Given the description of an element on the screen output the (x, y) to click on. 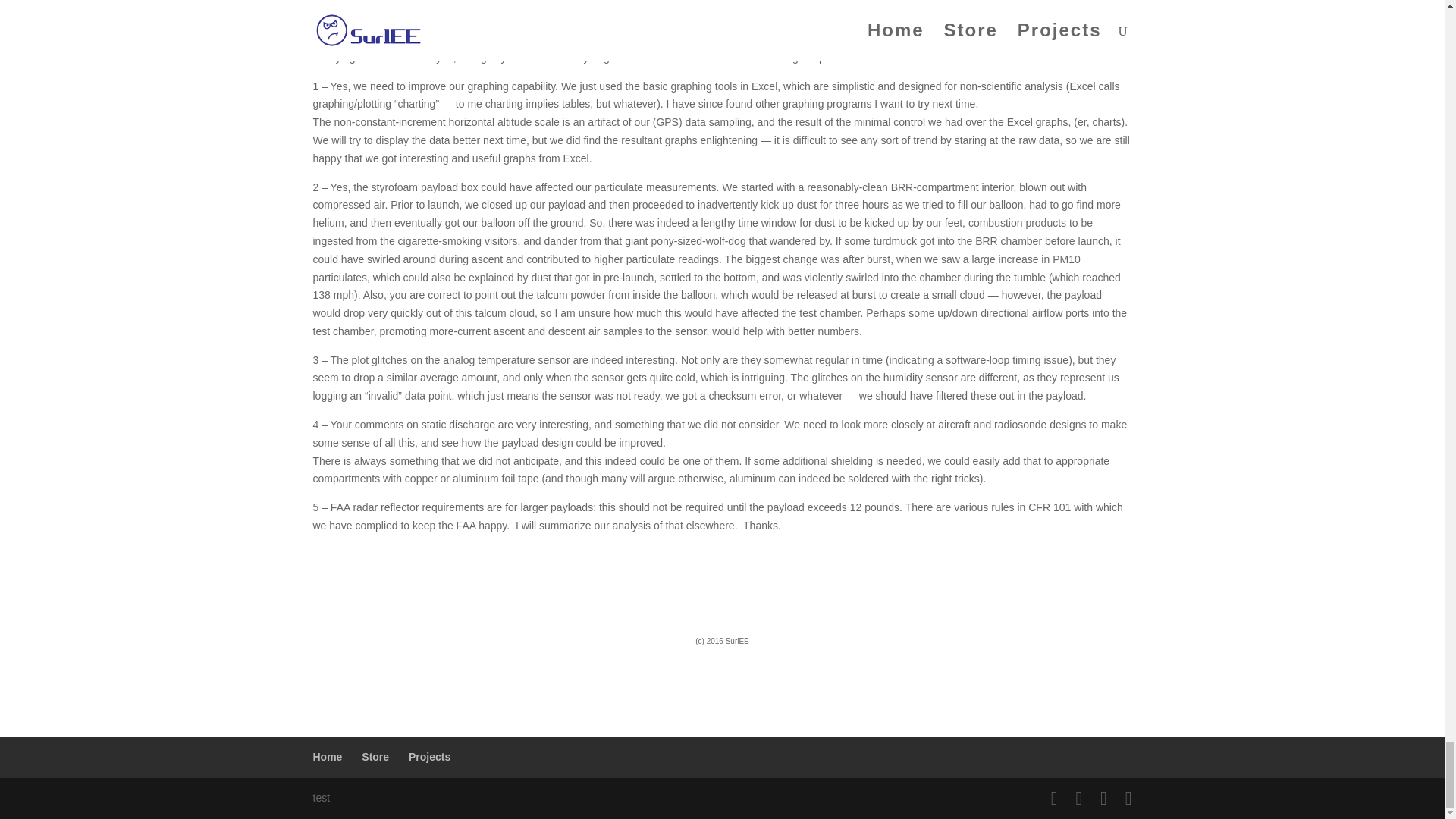
Projects (429, 756)
Home (327, 756)
Store (374, 756)
